Given the description of an element on the screen output the (x, y) to click on. 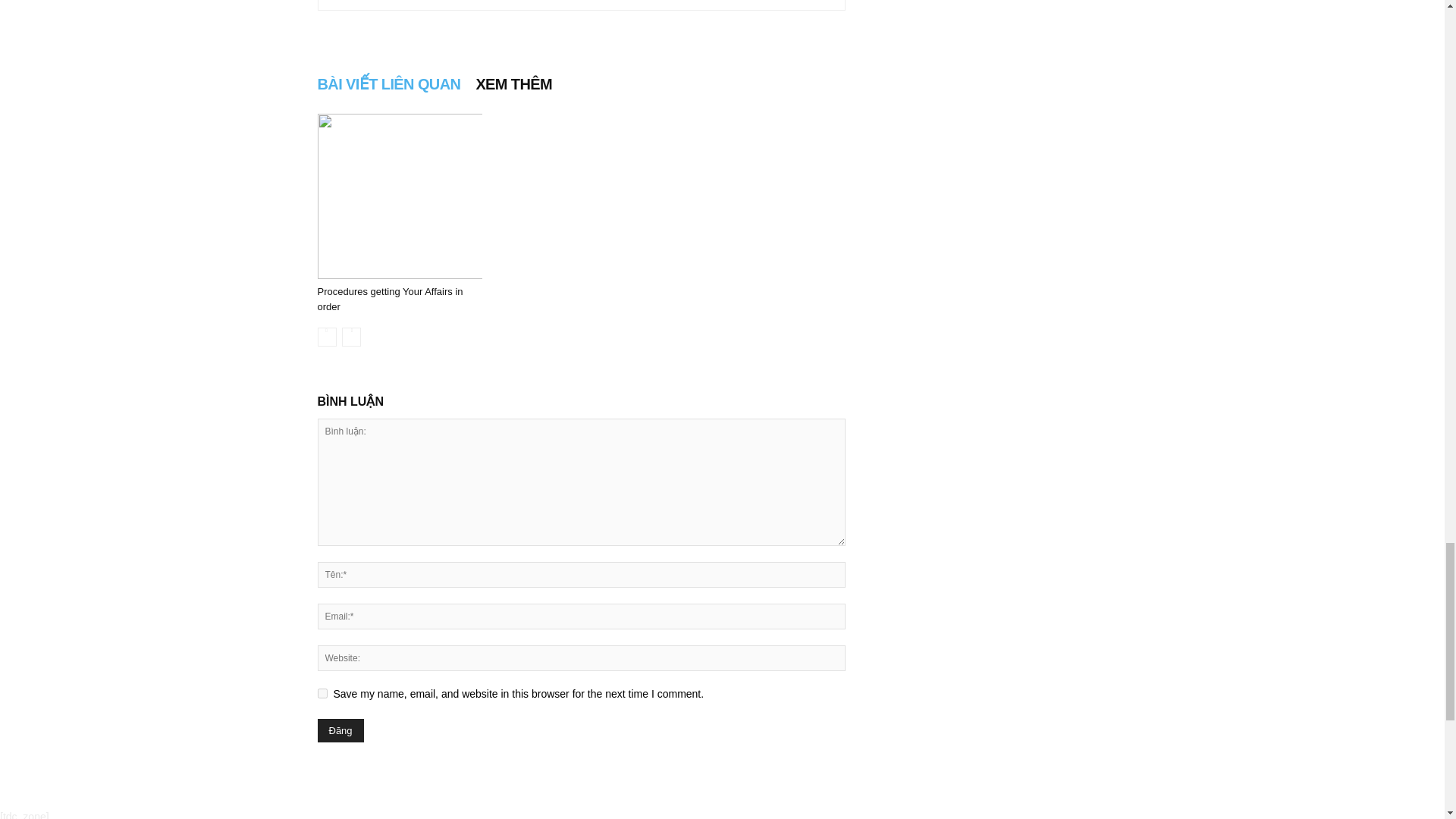
Procedures getting Your Affairs in order (399, 196)
Procedures getting Your Affairs in order (390, 298)
yes (321, 693)
Procedures getting Your Affairs in order (390, 298)
